Given the description of an element on the screen output the (x, y) to click on. 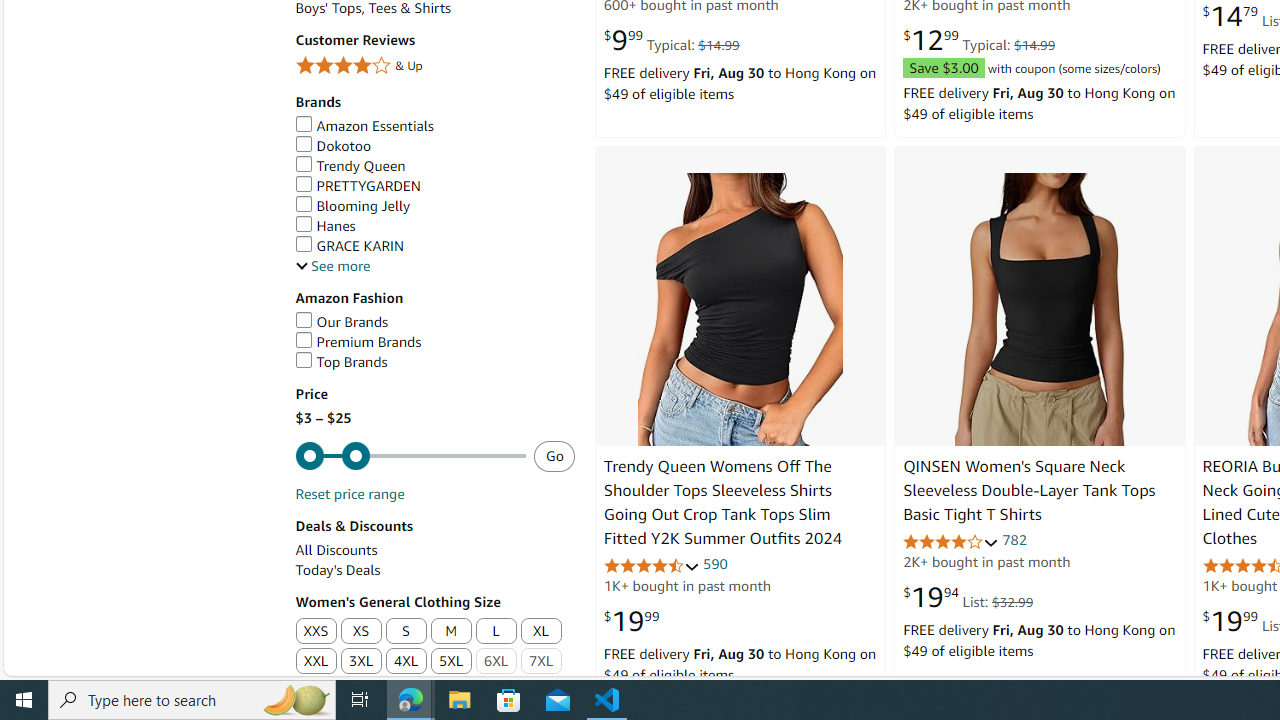
M (451, 632)
XL (540, 632)
Trendy Queen (434, 165)
4XL (406, 662)
GRACE KARIN (349, 246)
Top Brands (340, 362)
XXS (315, 631)
4.2 out of 5 stars (950, 541)
Go - Submit price range (554, 455)
Amazon Essentials (363, 125)
XXS (315, 632)
3XL (360, 662)
7XL (540, 662)
